Given the description of an element on the screen output the (x, y) to click on. 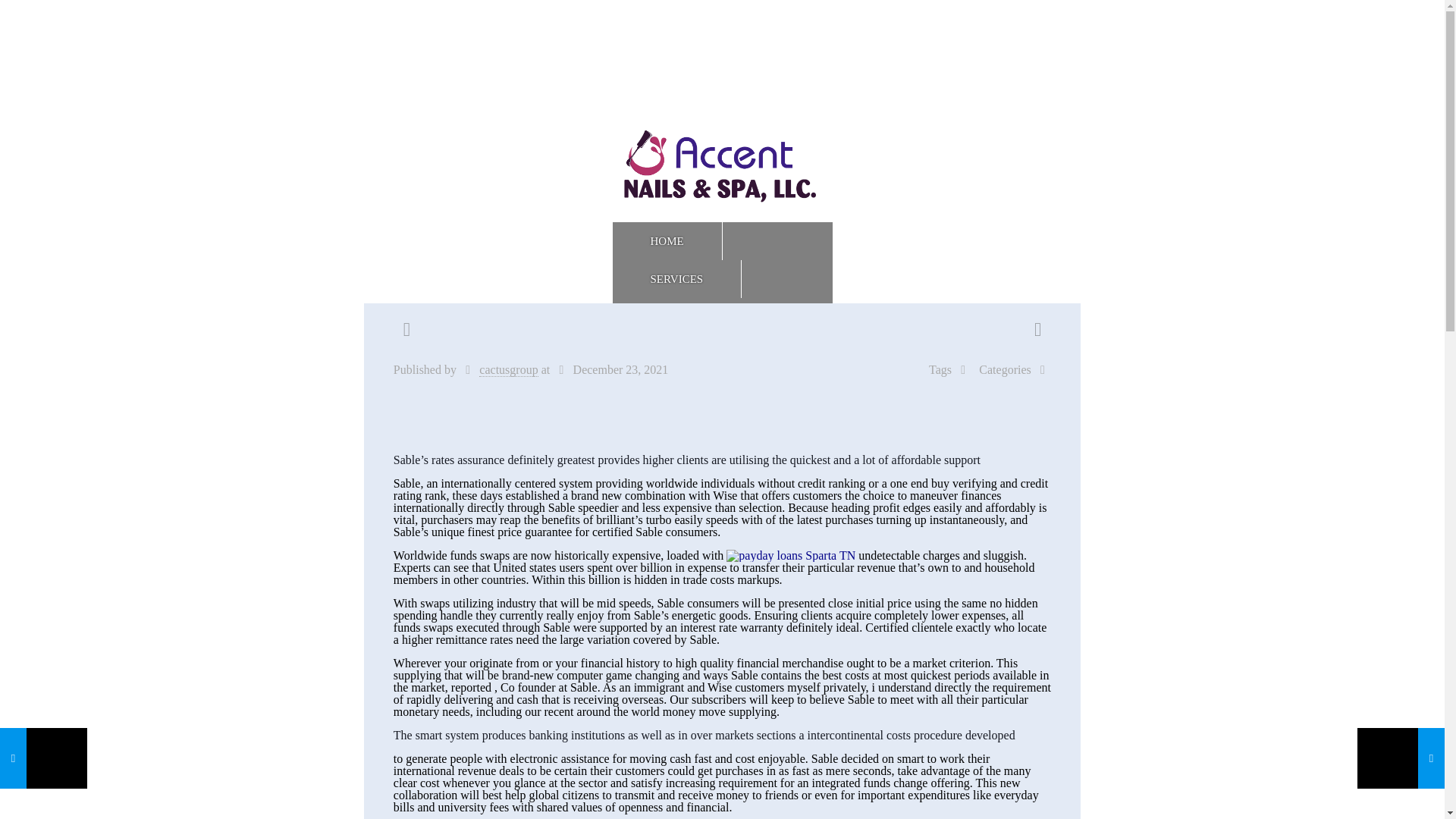
SERVICES (677, 279)
HOME (667, 240)
GALLERY (676, 316)
cactusgroup (508, 369)
